Given the description of an element on the screen output the (x, y) to click on. 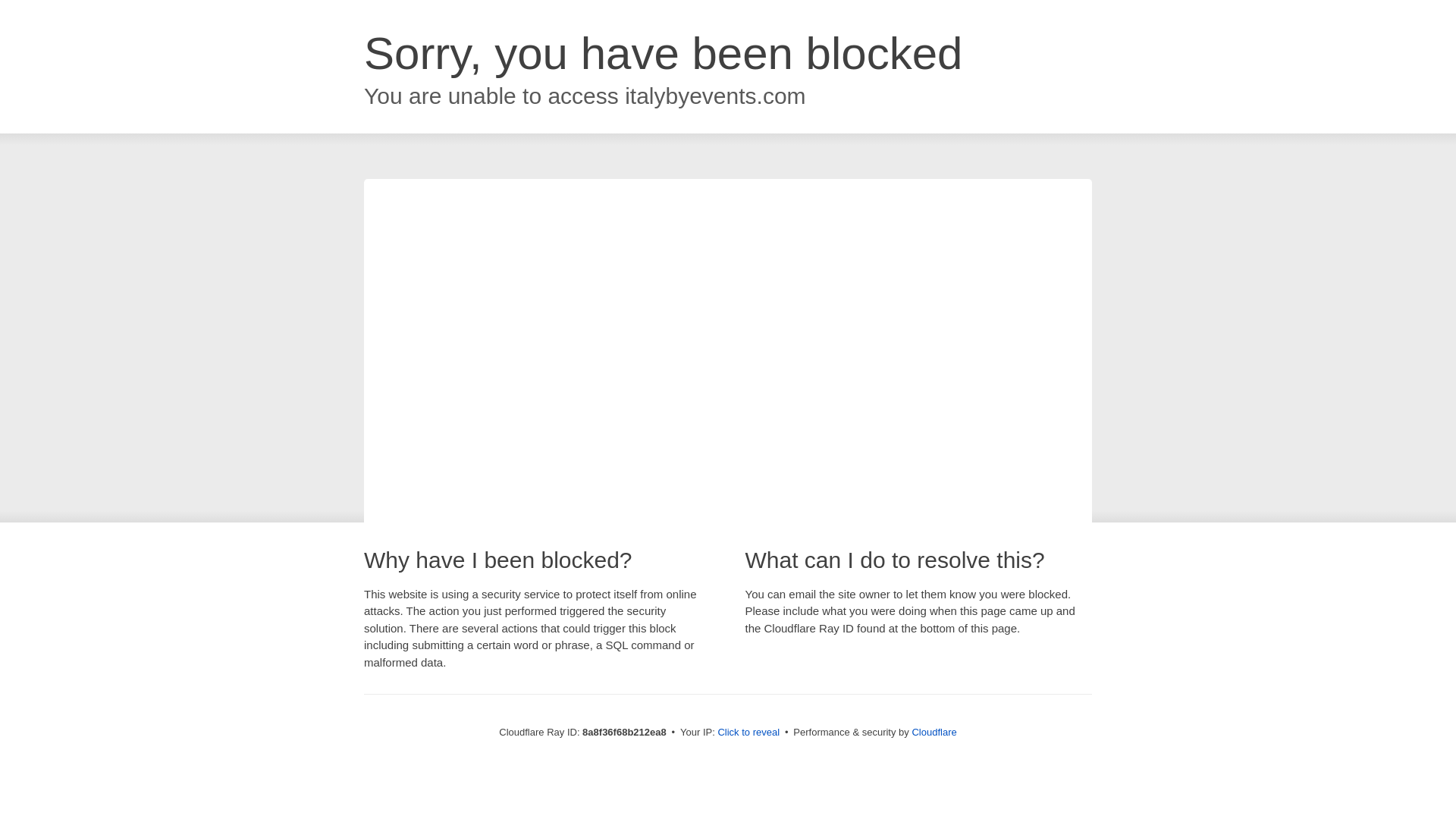
Cloudflare (933, 731)
Click to reveal (747, 732)
